Given the description of an element on the screen output the (x, y) to click on. 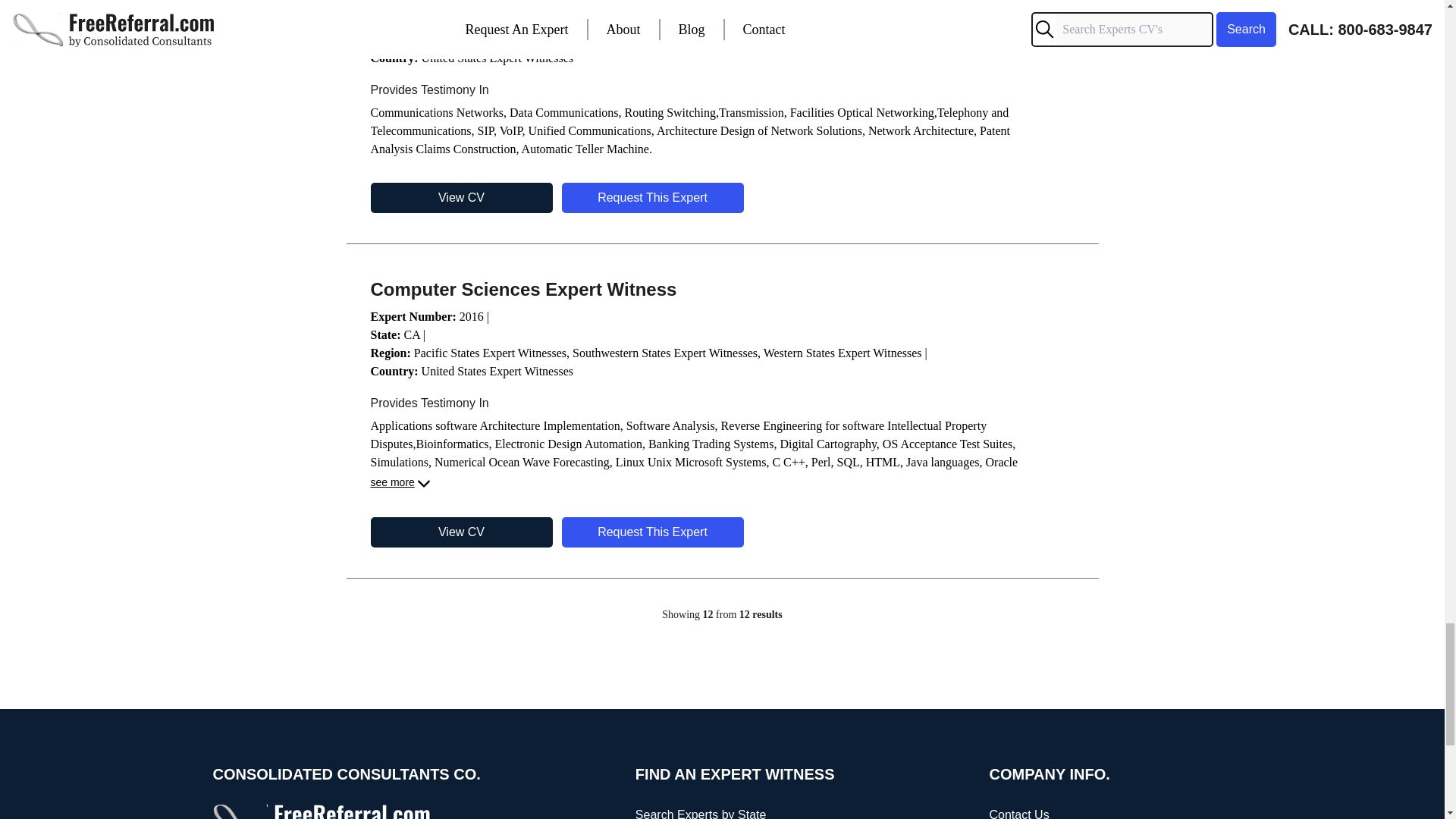
Request This Expert (651, 197)
View CV (460, 197)
see more (400, 484)
Free Referral (322, 811)
View CV (460, 531)
